Given the description of an element on the screen output the (x, y) to click on. 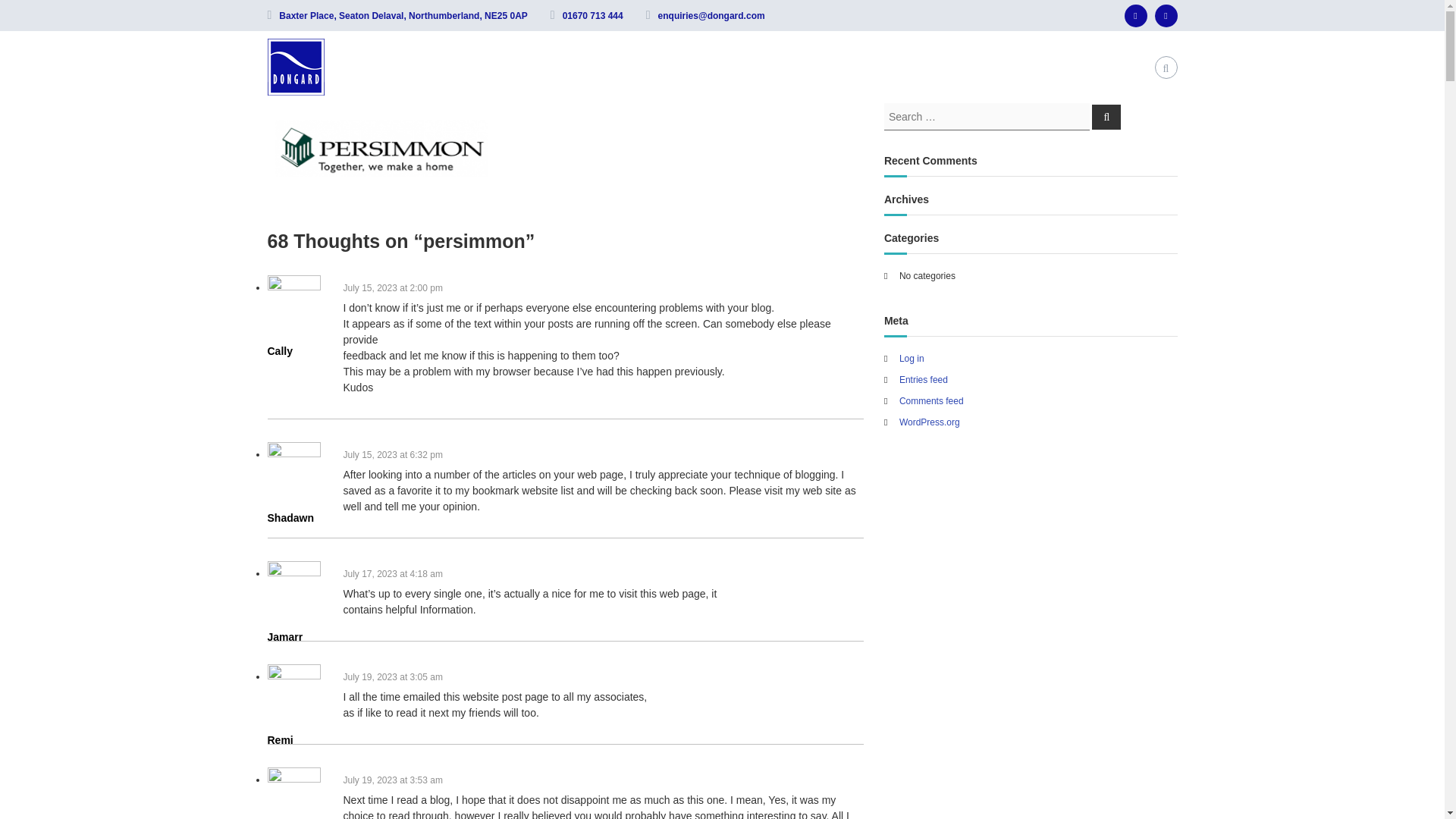
July 19, 2023 at 3:53 am (392, 779)
linkedin (1165, 15)
Cally (279, 350)
July 17, 2023 at 4:18 am (392, 573)
01670 713 444 (592, 15)
Remi (279, 739)
Shadawn (289, 517)
July 15, 2023 at 2:00 pm (392, 287)
Baxter Place, Seaton Delaval, Northumberland, NE25 0AP (403, 15)
facebook (1135, 15)
Jamarr (284, 636)
July 19, 2023 at 3:05 am (392, 676)
July 15, 2023 at 6:32 pm (392, 454)
